Given the description of an element on the screen output the (x, y) to click on. 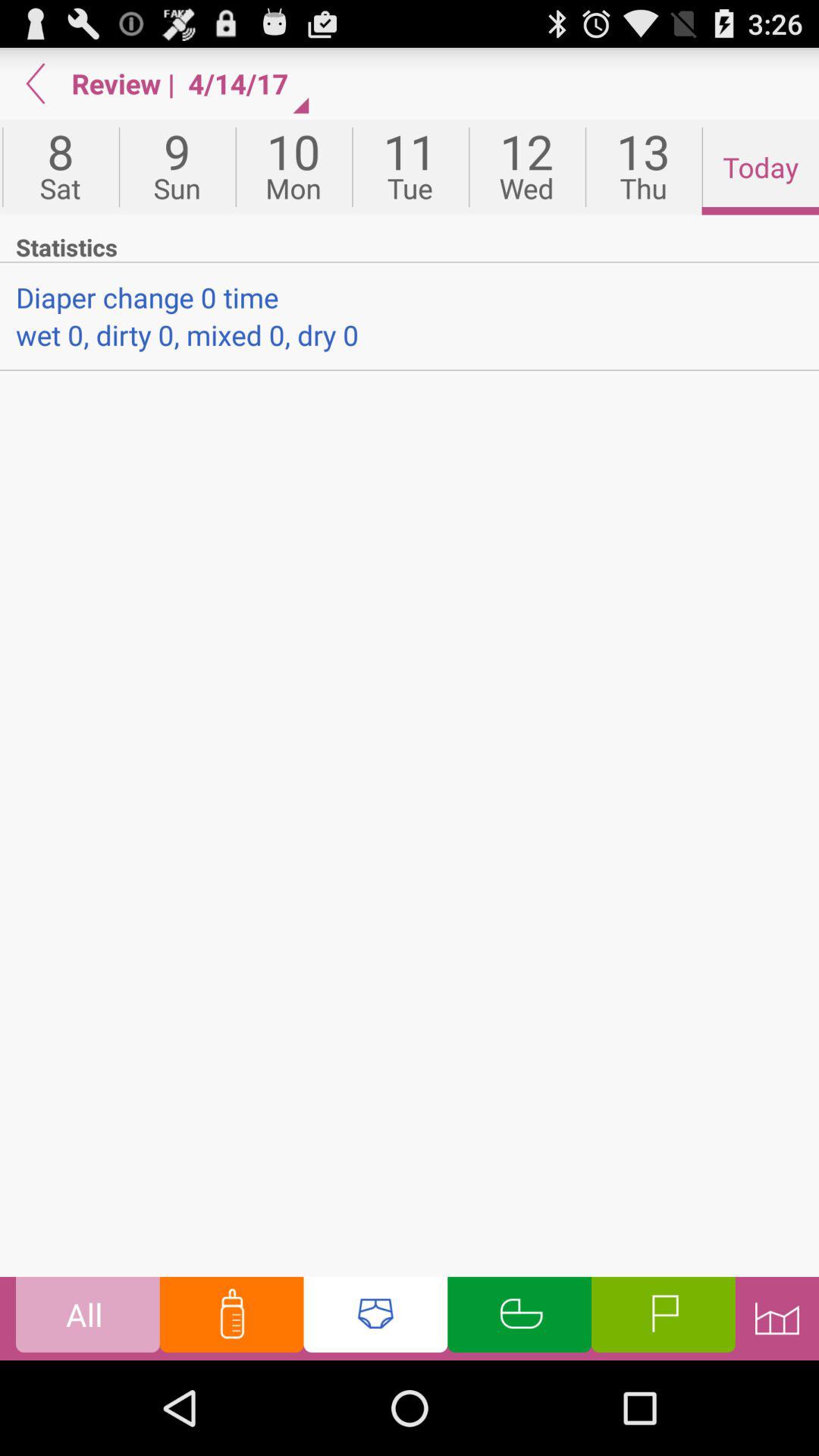
open statistics app (409, 246)
